Given the description of an element on the screen output the (x, y) to click on. 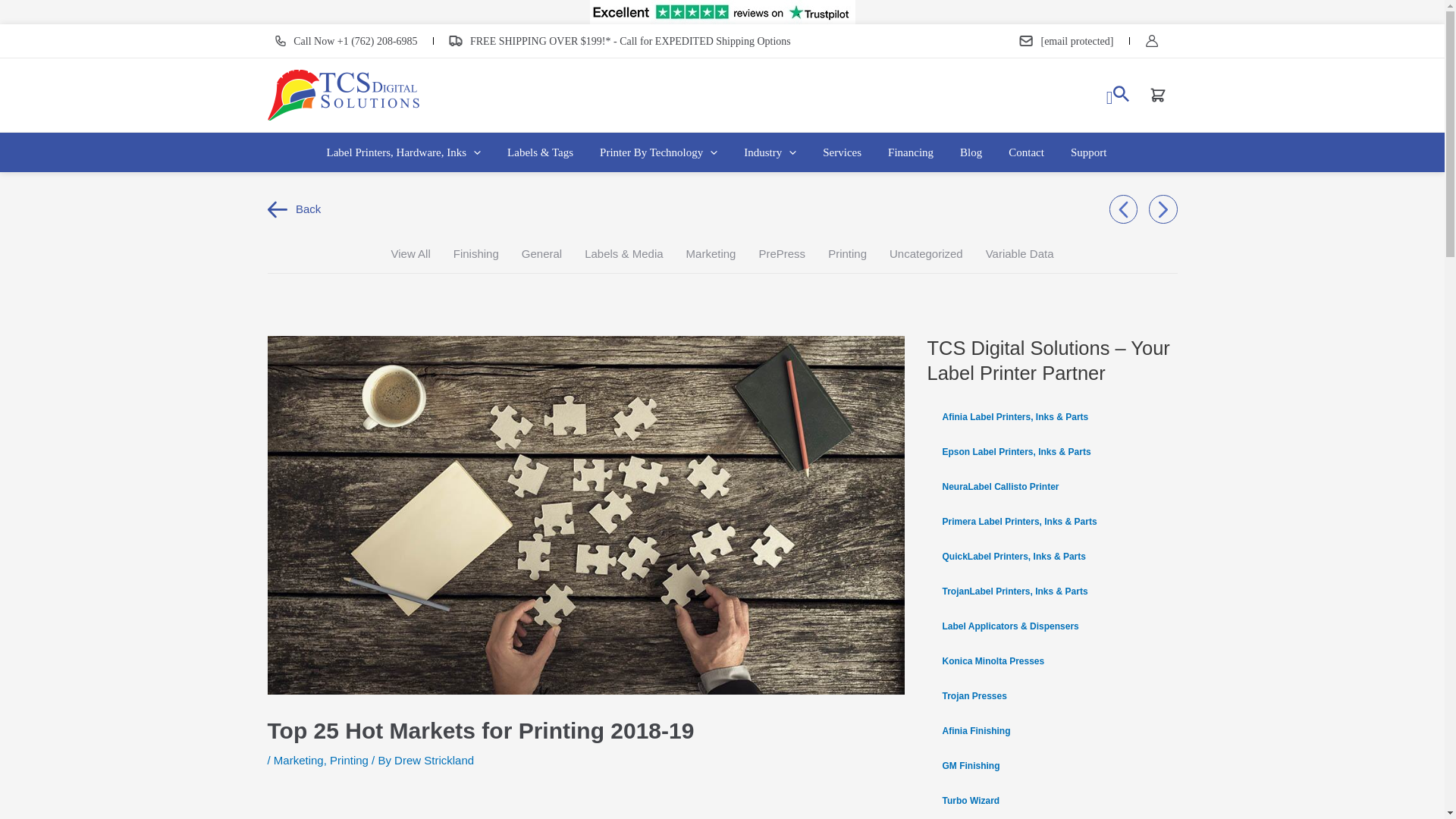
Search (1118, 95)
View all posts by Drew Strickland (434, 759)
Label Printers, Hardware, Inks (409, 151)
